Given the description of an element on the screen output the (x, y) to click on. 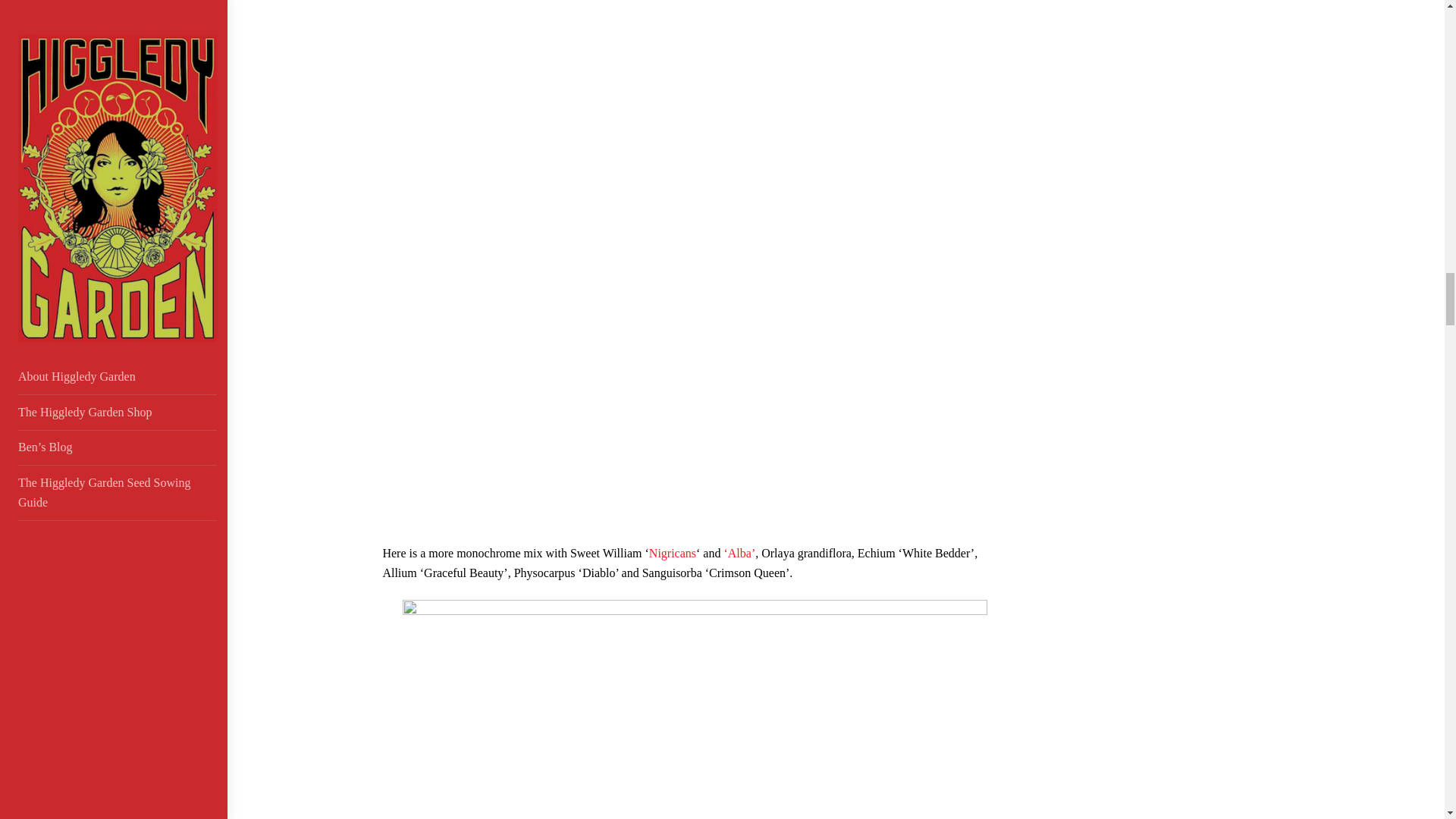
Nigricans (672, 553)
